Given the description of an element on the screen output the (x, y) to click on. 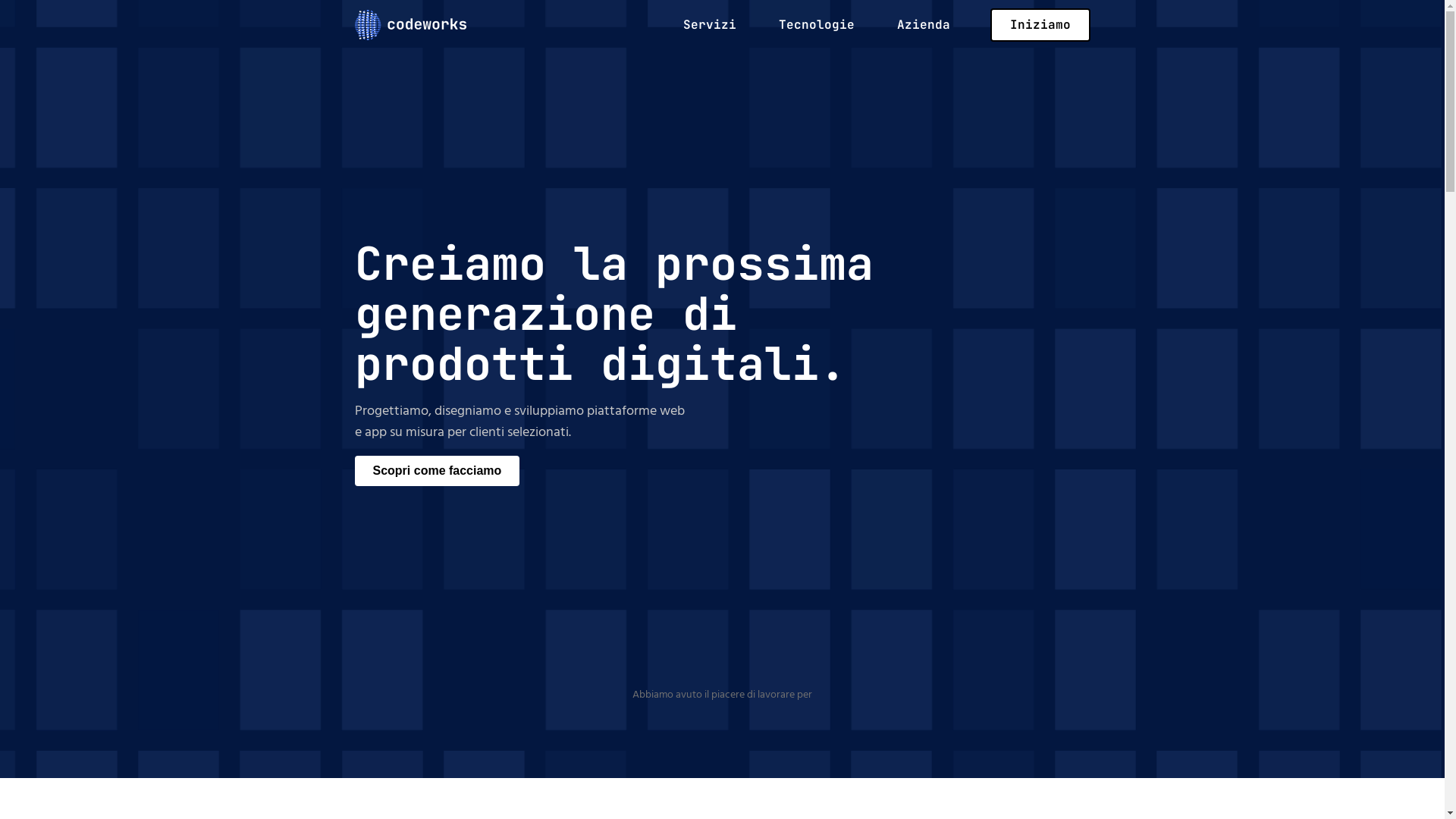
Iniziamo Element type: text (1040, 24)
Azienda Element type: text (923, 24)
Servizi Element type: text (709, 24)
Tecnologie Element type: text (816, 24)
Homepage Element type: hover (410, 24)
